Given the description of an element on the screen output the (x, y) to click on. 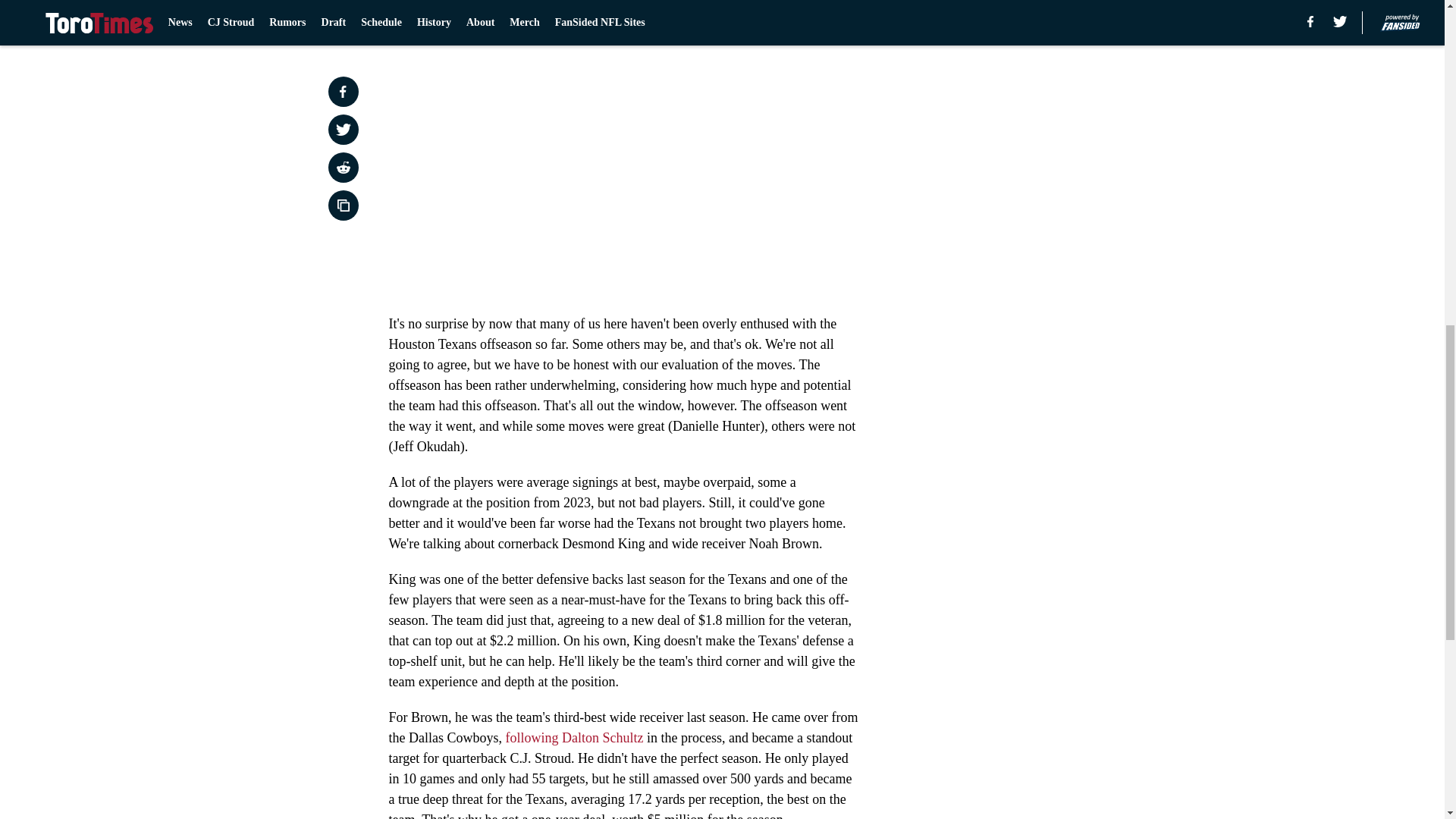
following Dalton Schultz (575, 737)
